Given the description of an element on the screen output the (x, y) to click on. 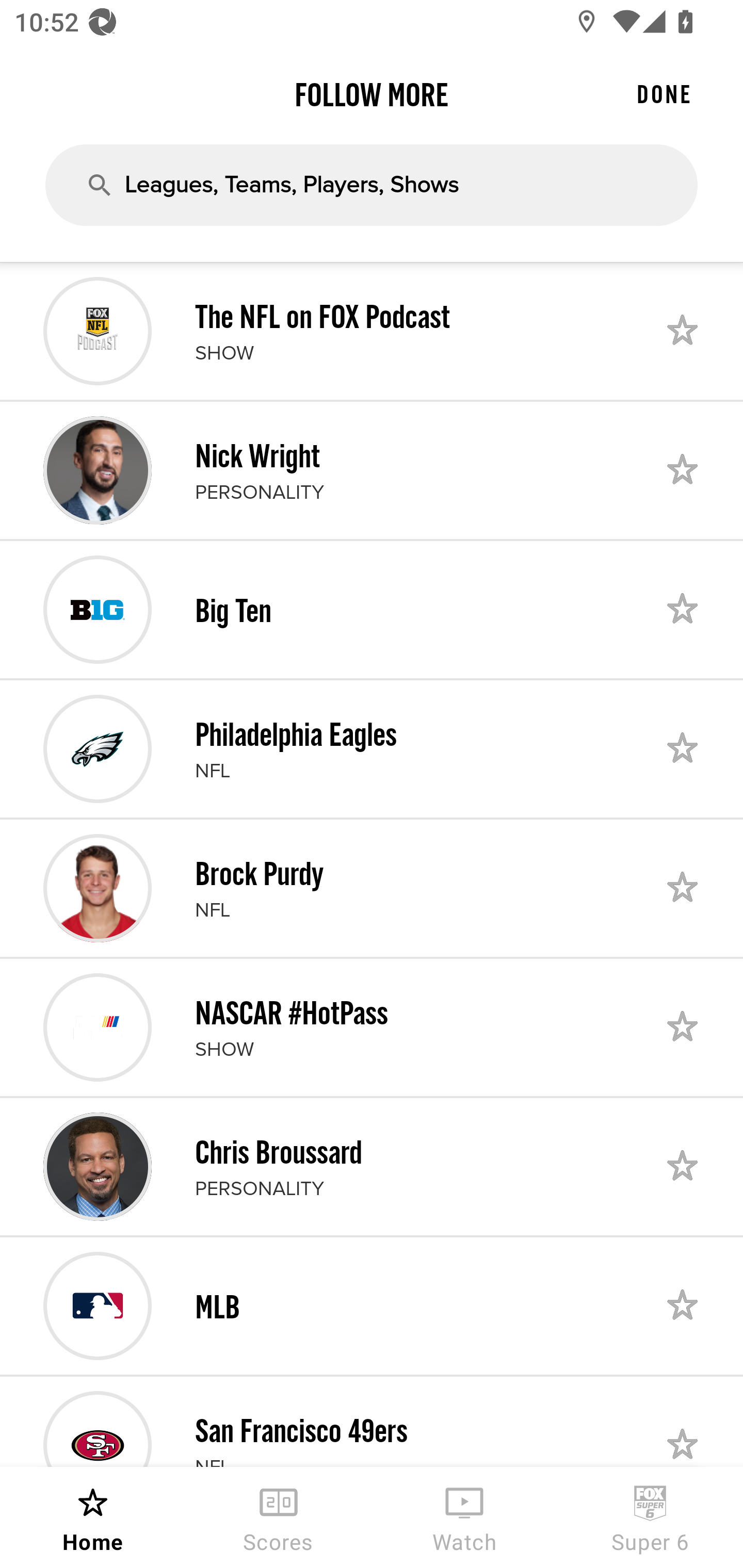
DONE (663, 93)
Leagues, Teams, Players, Shows (371, 184)
The NFL on FOX Podcast SHOW (371, 330)
Nick Wright PERSONALITY (371, 470)
Big Ten (371, 609)
Philadelphia Eagles NFL (371, 748)
Brock Purdy NFL (371, 888)
NASCAR #HotPass SHOW (371, 1027)
Chris Broussard PERSONALITY (371, 1166)
MLB (371, 1306)
San Francisco 49ers NFL (371, 1421)
Scores (278, 1517)
Watch (464, 1517)
Super 6 (650, 1517)
